Given the description of an element on the screen output the (x, y) to click on. 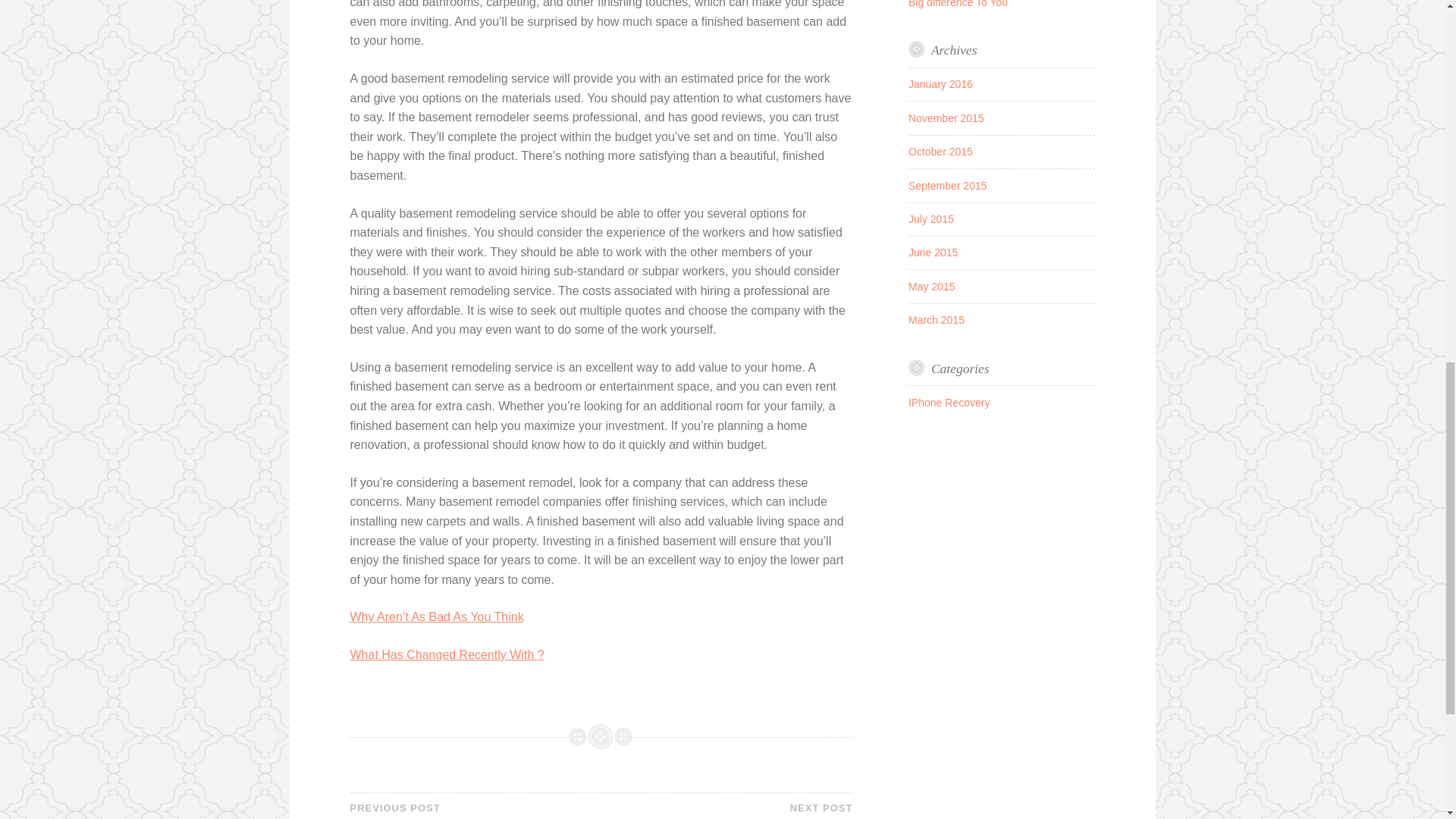
IPhone Recovery (949, 402)
The Iphone And How It Can Make A Big difference To You (992, 3)
March 2015 (935, 319)
June 2015 (475, 810)
October 2015 (933, 252)
July 2015 (940, 151)
January 2016 (930, 218)
September 2015 (940, 83)
What Has Changed Recently With ? (947, 185)
November 2015 (447, 654)
May 2015 (946, 118)
